Given the description of an element on the screen output the (x, y) to click on. 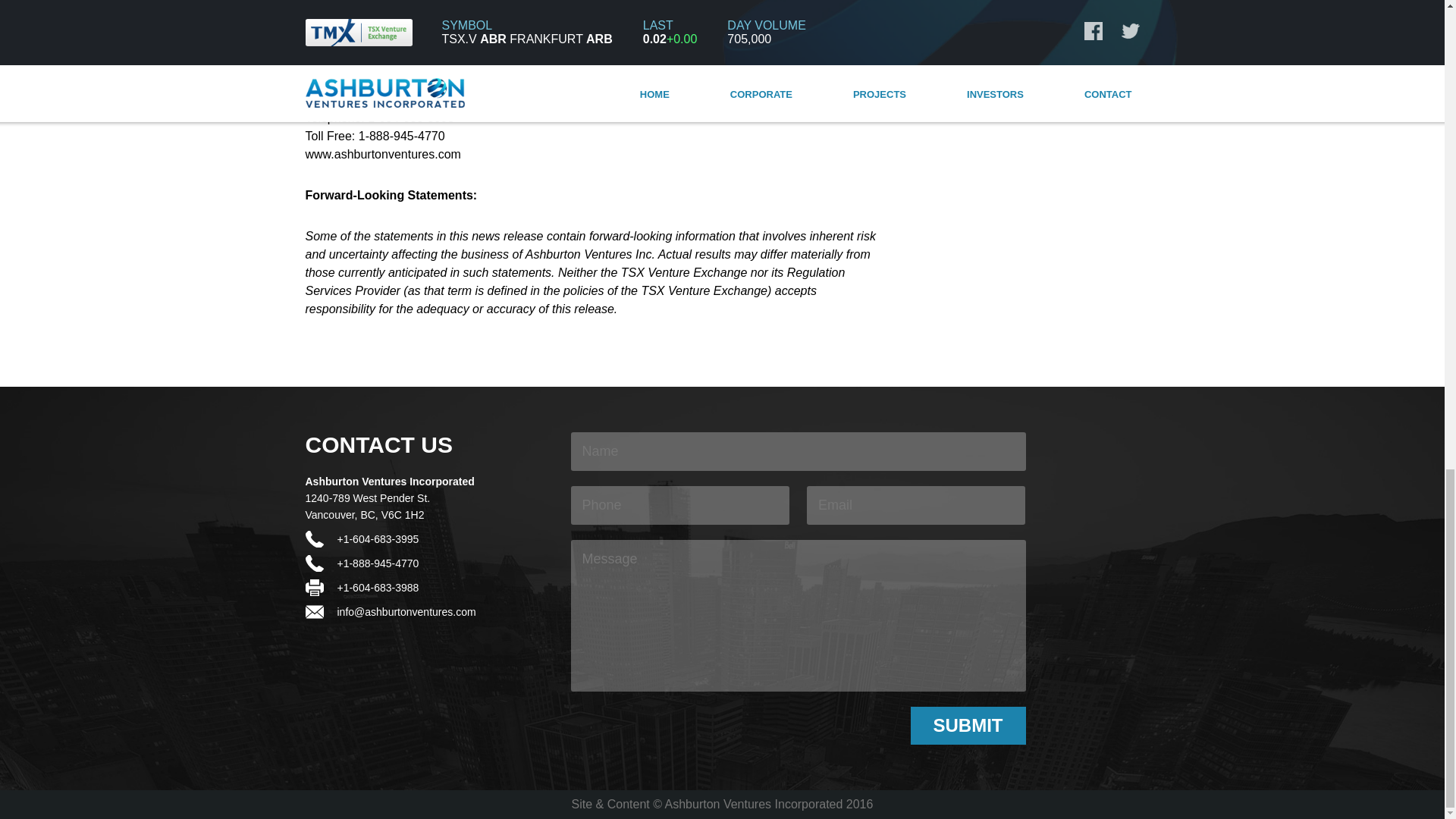
Submit (967, 725)
Submit (967, 725)
